Given the description of an element on the screen output the (x, y) to click on. 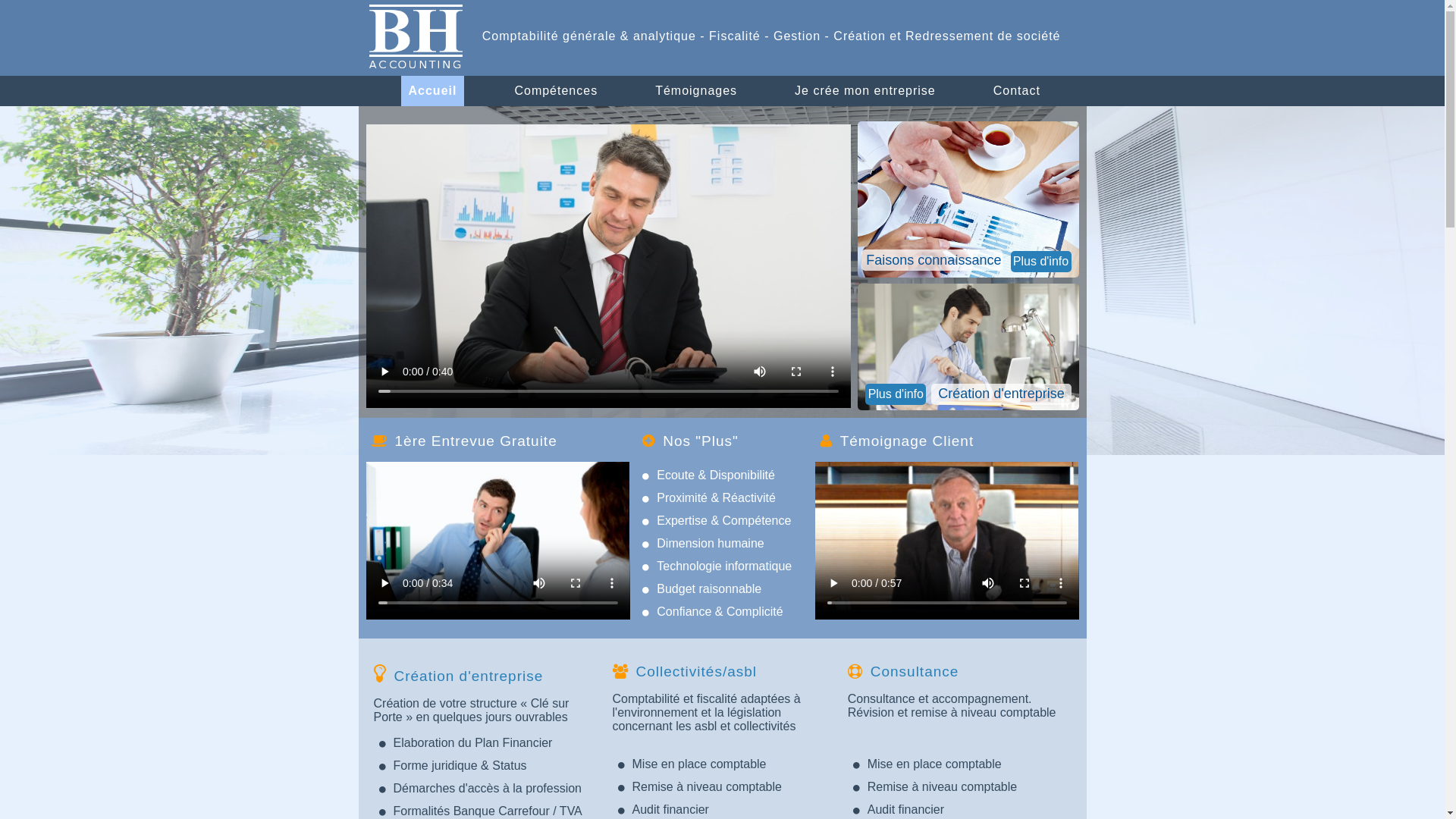
Plus d'info Element type: text (895, 393)
Contact Element type: text (1016, 90)
Plus d'info Element type: text (1040, 261)
Accueil Element type: text (431, 90)
